Given the description of an element on the screen output the (x, y) to click on. 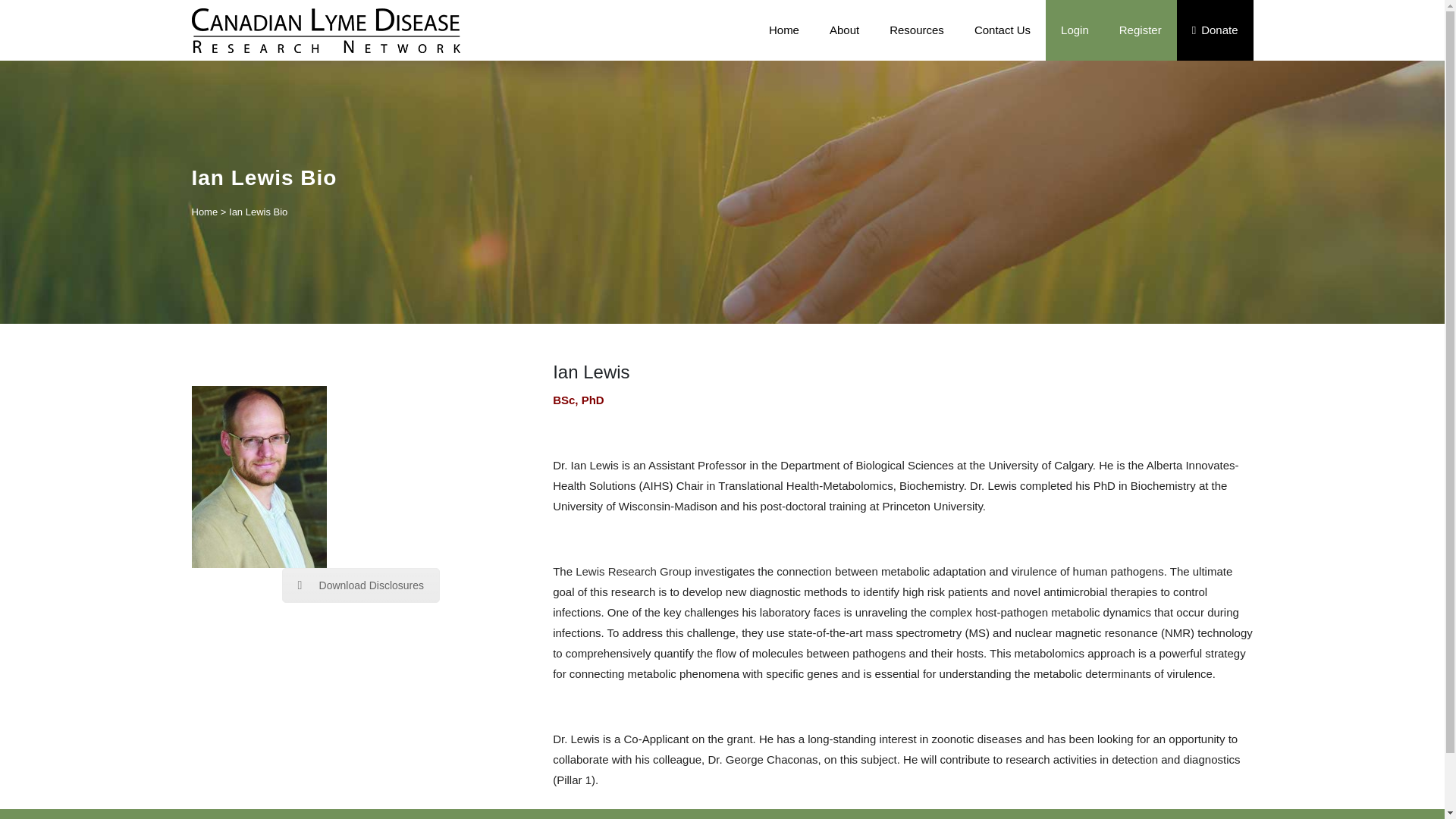
Home (783, 30)
Home (203, 211)
Contact Us (1002, 30)
Login (1074, 30)
Register (1139, 30)
About (844, 30)
Donate (1214, 30)
Download Disclosures (361, 585)
Resources (917, 30)
Lewis Research Group (633, 571)
